Given the description of an element on the screen output the (x, y) to click on. 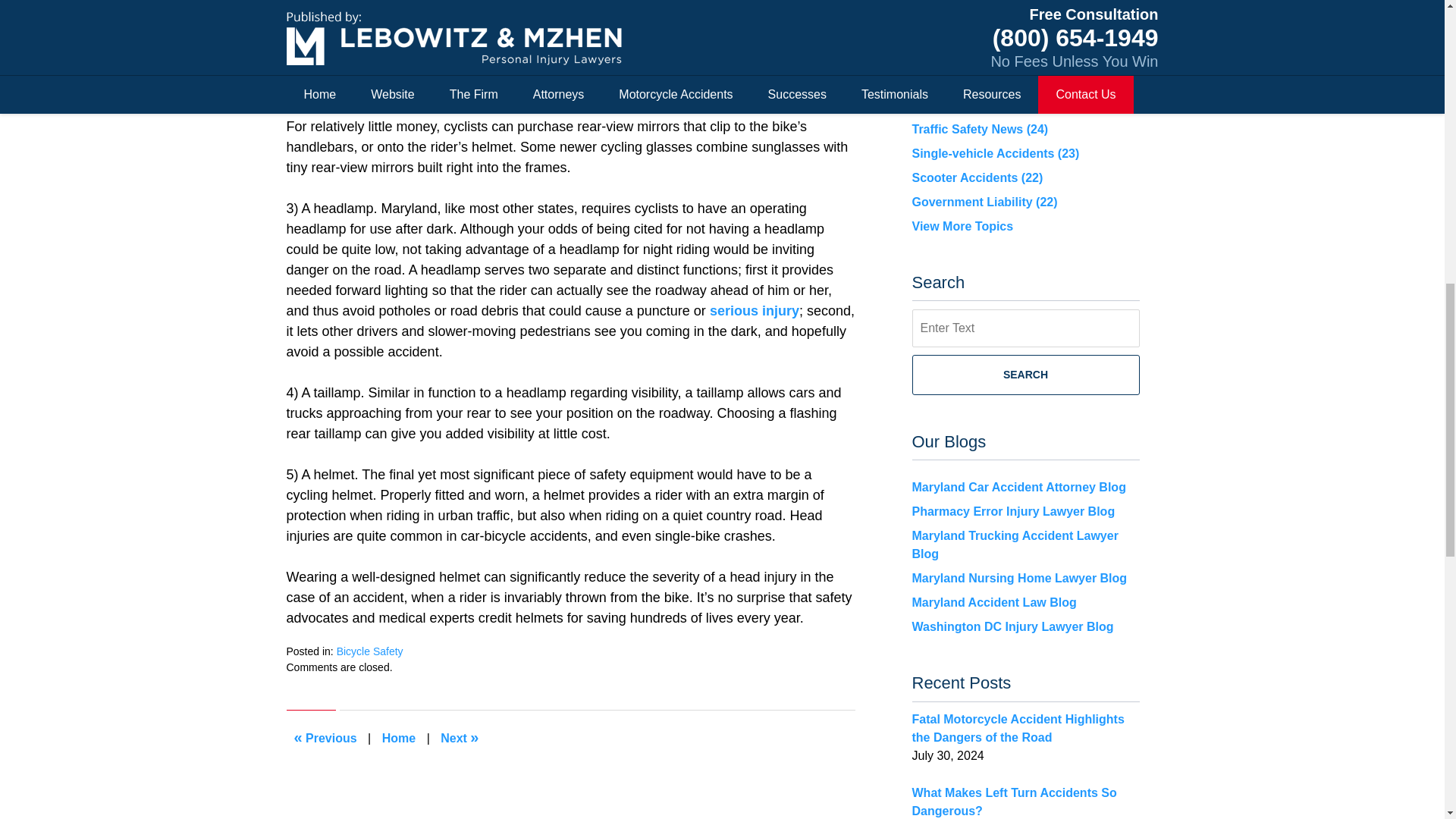
Bicycle Safety (369, 651)
serious injury (754, 310)
View all posts in Bicycle Safety (369, 651)
